Given the description of an element on the screen output the (x, y) to click on. 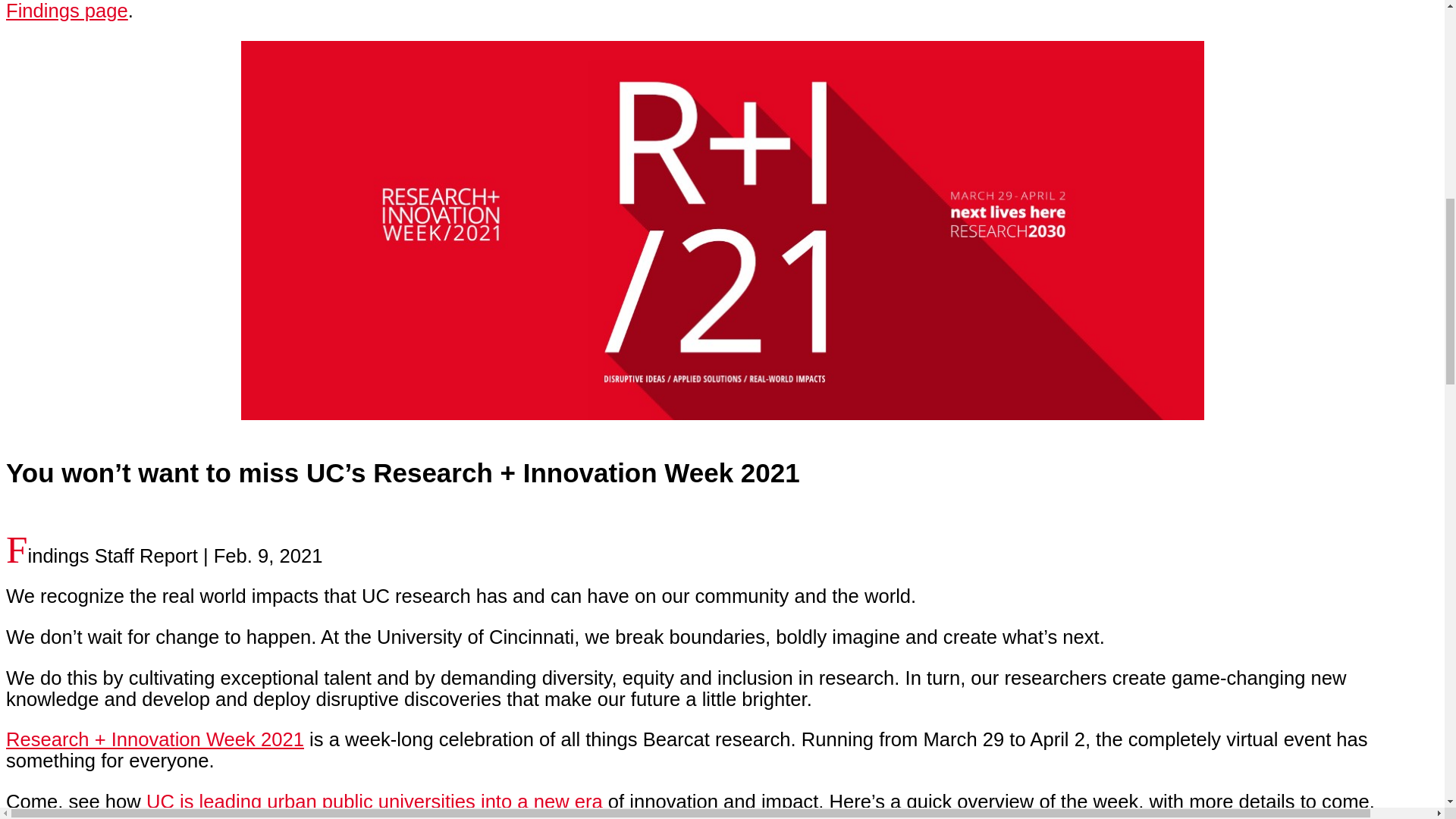
UC is leading urban public universities into a new era (374, 801)
Findings page (66, 10)
